Given the description of an element on the screen output the (x, y) to click on. 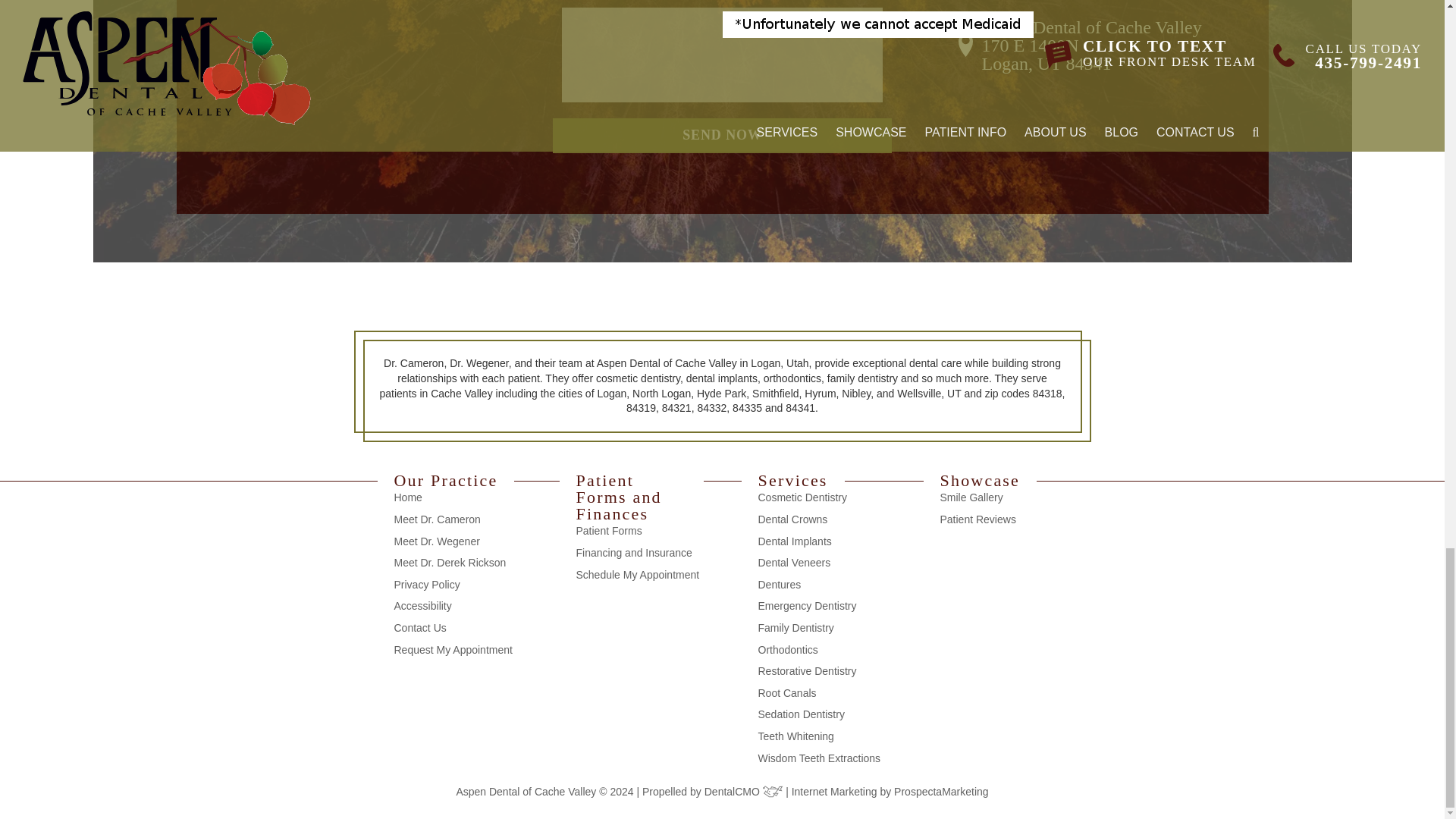
Send Now (722, 135)
Internet Dental Marketing (940, 791)
